Given the description of an element on the screen output the (x, y) to click on. 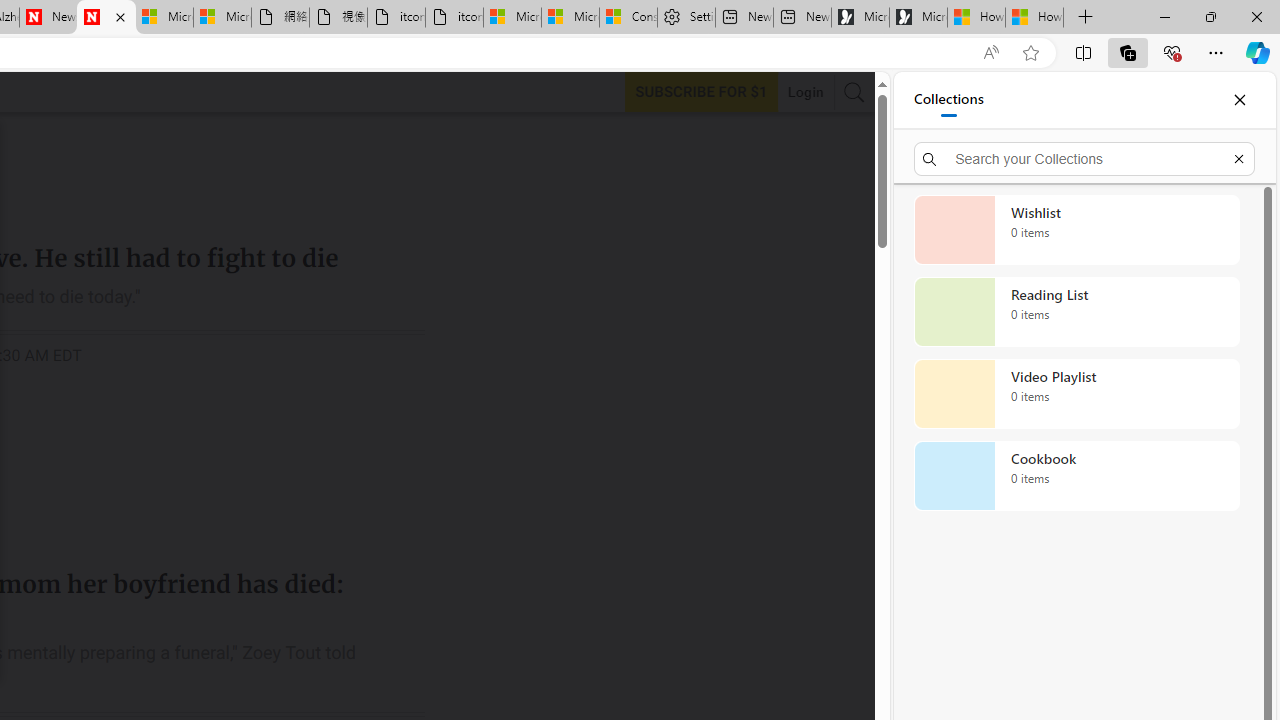
Reading List collection, 0 items (1076, 312)
Exit search (1238, 158)
Consumer Health Data Privacy Policy (628, 17)
Search your Collections (1084, 158)
Video Playlist collection, 0 items (1076, 394)
Newsweek - News, Analysis, Politics, Business, Technology (48, 17)
Cookbook collection, 0 items (1076, 475)
How to Use a TV as a Computer Monitor (1034, 17)
